Given the description of an element on the screen output the (x, y) to click on. 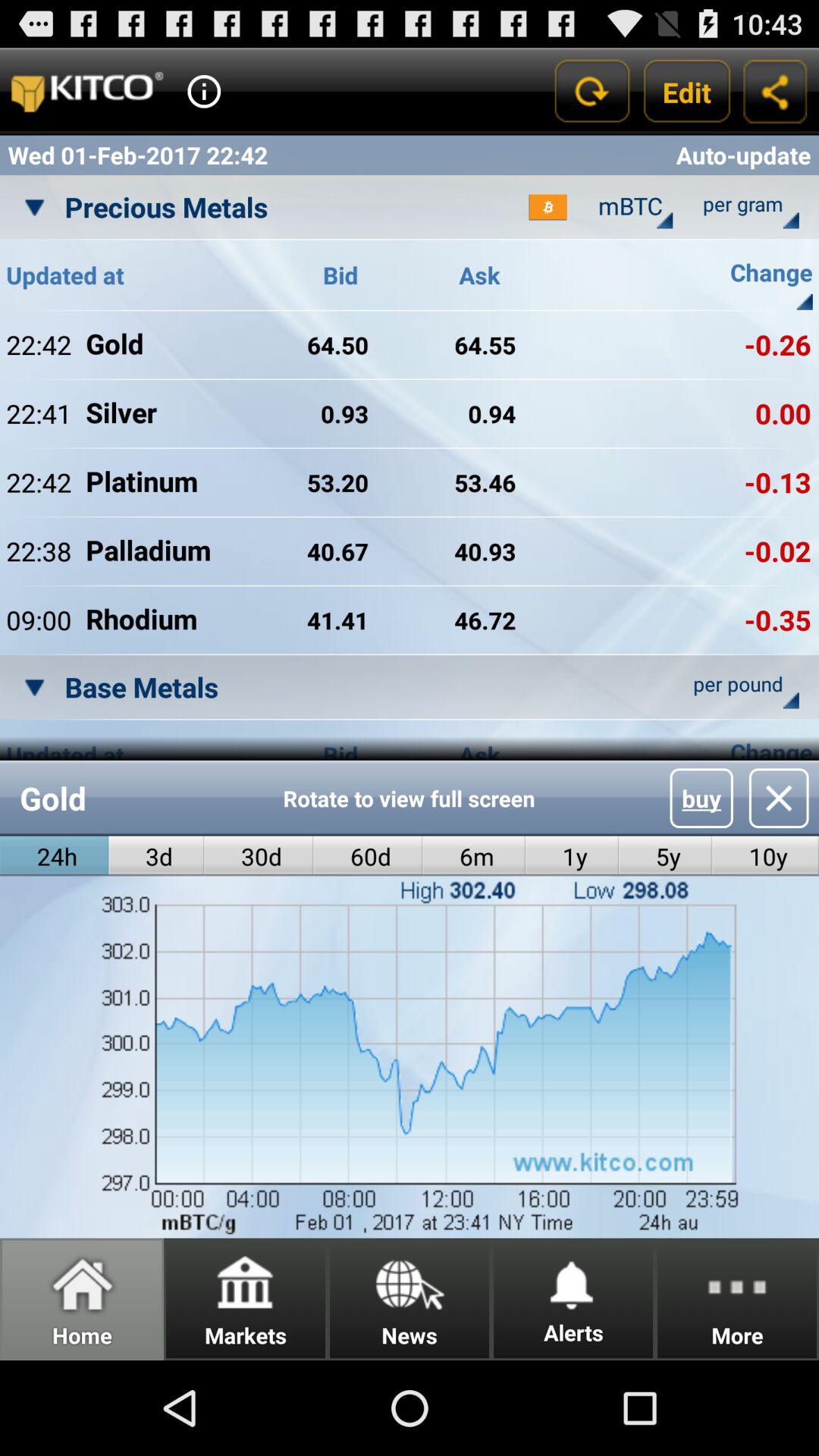
open item below rotate to view icon (571, 856)
